Given the description of an element on the screen output the (x, y) to click on. 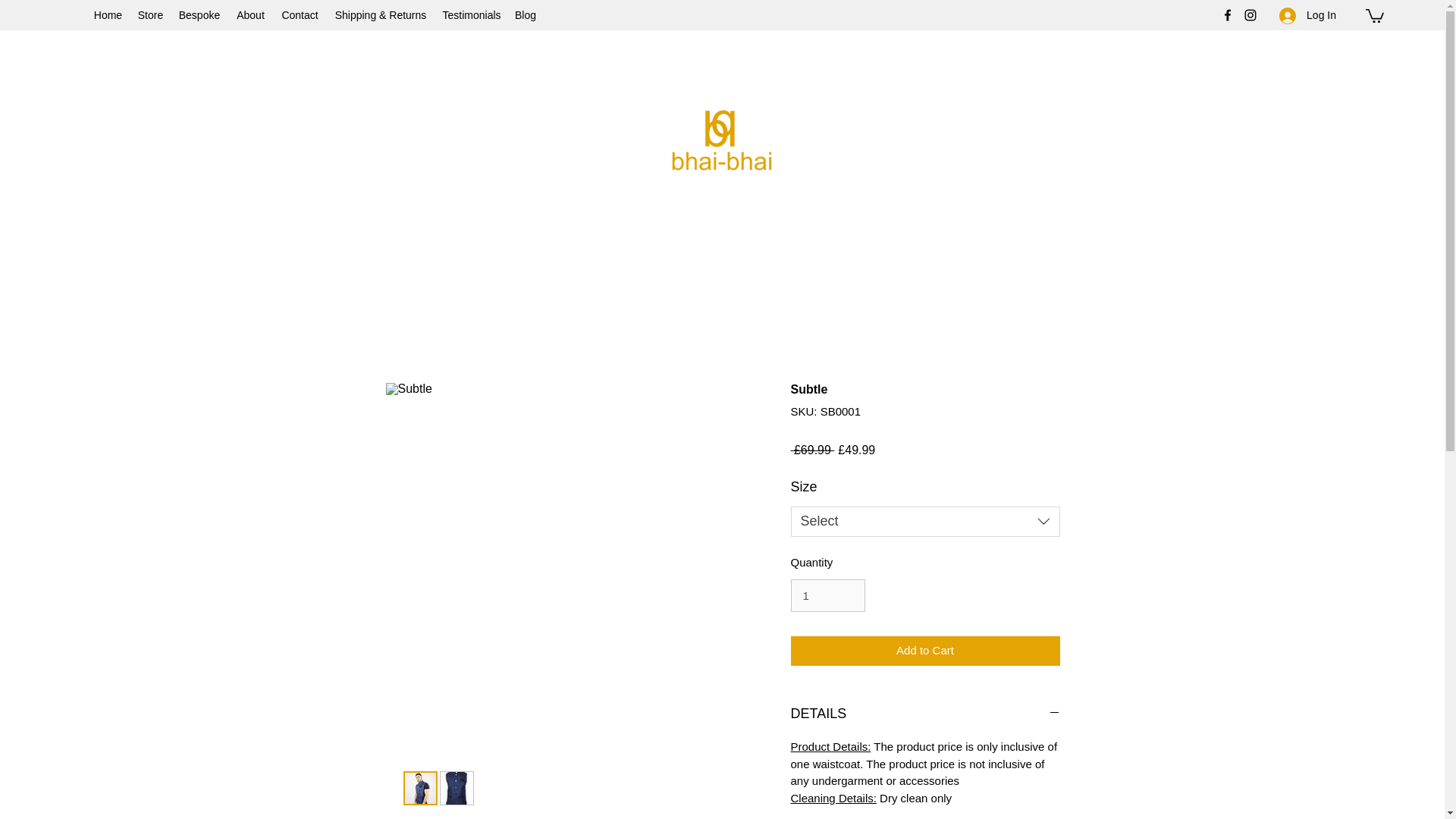
Add to Cart (924, 650)
Store (151, 15)
Home (108, 15)
About (250, 15)
DETAILS (924, 713)
Testimonials (470, 15)
Contact (299, 15)
Select (924, 521)
Blog (524, 15)
1 (827, 595)
Bespoke (199, 15)
Log In (1307, 15)
